Given the description of an element on the screen output the (x, y) to click on. 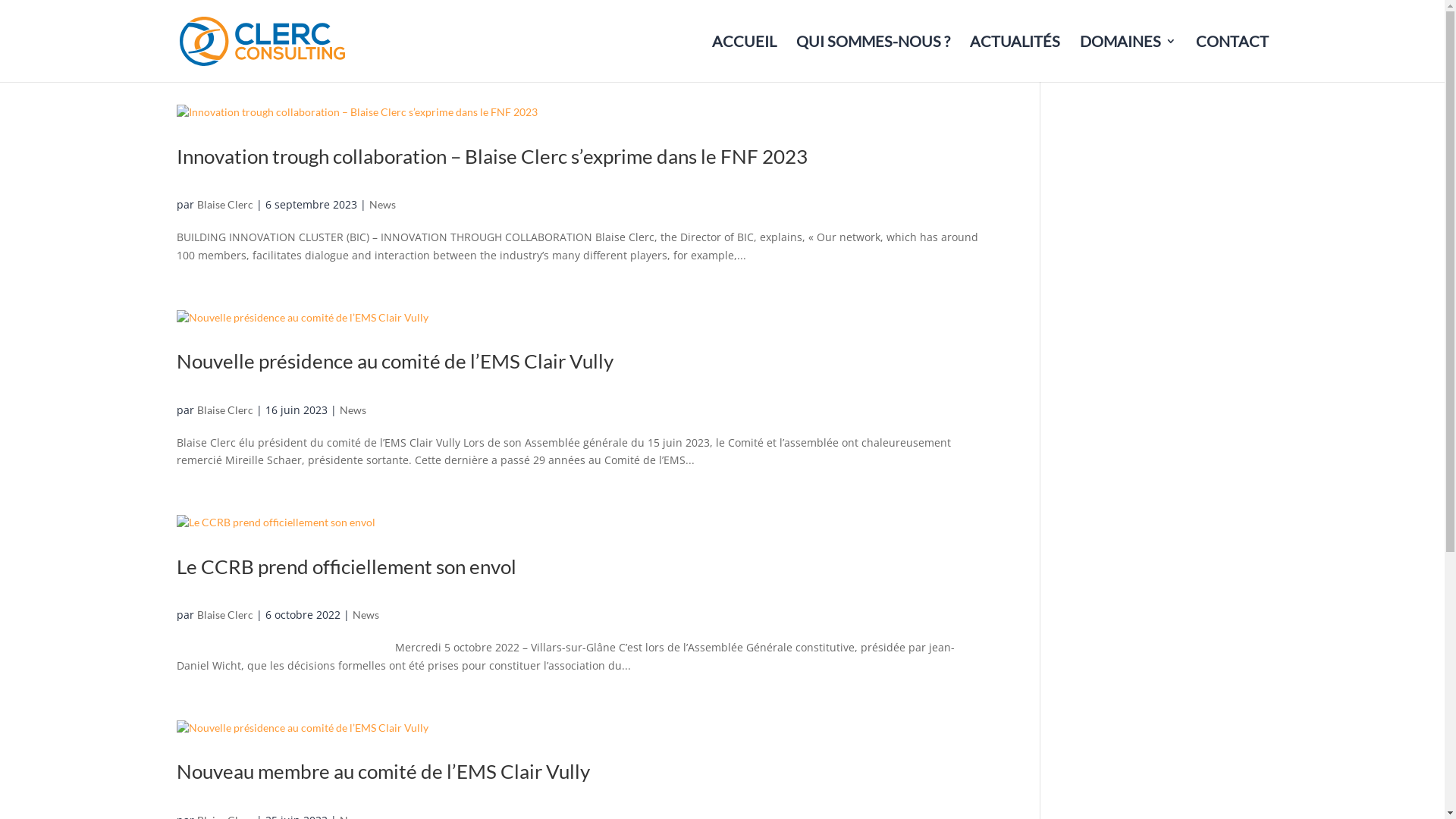
Blaise Clerc Element type: text (225, 203)
DOMAINES Element type: text (1127, 55)
QUI SOMMES-NOUS ? Element type: text (873, 55)
News Element type: text (364, 614)
Blaise Clerc Element type: text (225, 614)
Le CCRB prend officiellement son envol Element type: text (345, 566)
CONTACT Element type: text (1231, 55)
ACCUEIL Element type: text (743, 55)
News Element type: text (352, 409)
Blaise Clerc Element type: text (225, 409)
News Element type: text (381, 203)
